Given the description of an element on the screen output the (x, y) to click on. 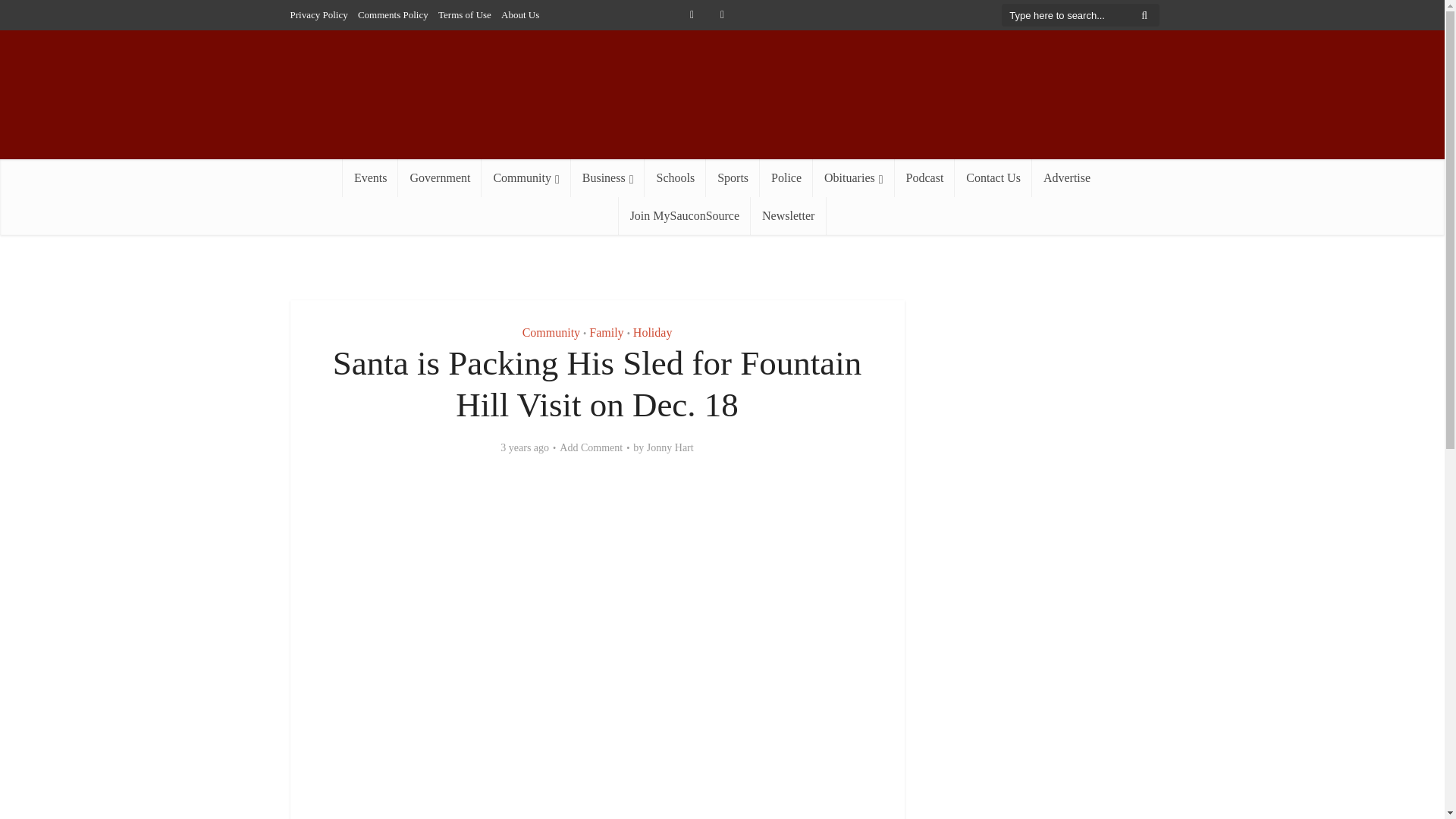
Advertise (1067, 177)
Newsletter (788, 216)
Police (786, 177)
Podcast (925, 177)
Schools (675, 177)
About Us (519, 14)
Community (525, 177)
Add Comment (591, 448)
Family (606, 332)
Jonny Hart (670, 448)
